Given the description of an element on the screen output the (x, y) to click on. 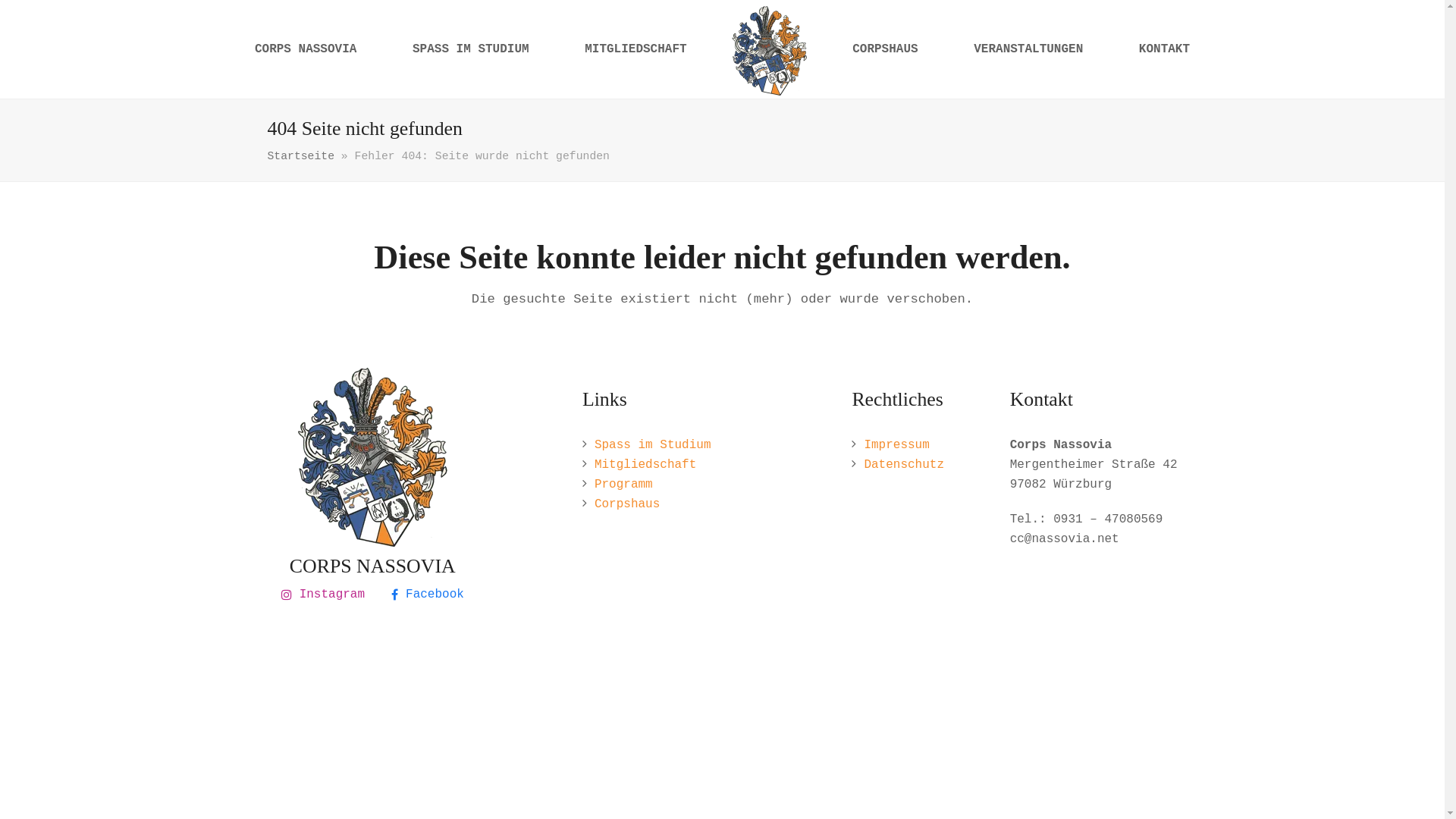
Startseite Element type: text (300, 156)
KONTAKT Element type: text (1164, 49)
Mitgliedschaft Element type: text (645, 464)
Spass im Studium Element type: text (652, 444)
CORPS NASSOVIA Element type: text (305, 49)
VERANSTALTUNGEN Element type: text (1027, 49)
SPASS IM STUDIUM Element type: text (470, 49)
Instagram Element type: text (322, 594)
Programm Element type: text (623, 484)
Datenschutz Element type: text (903, 464)
CORPSHAUS Element type: text (884, 49)
Facebook Element type: text (427, 594)
Corpshaus Element type: text (626, 504)
MITGLIEDSCHAFT Element type: text (635, 49)
Impressum Element type: text (895, 444)
